Given the description of an element on the screen output the (x, y) to click on. 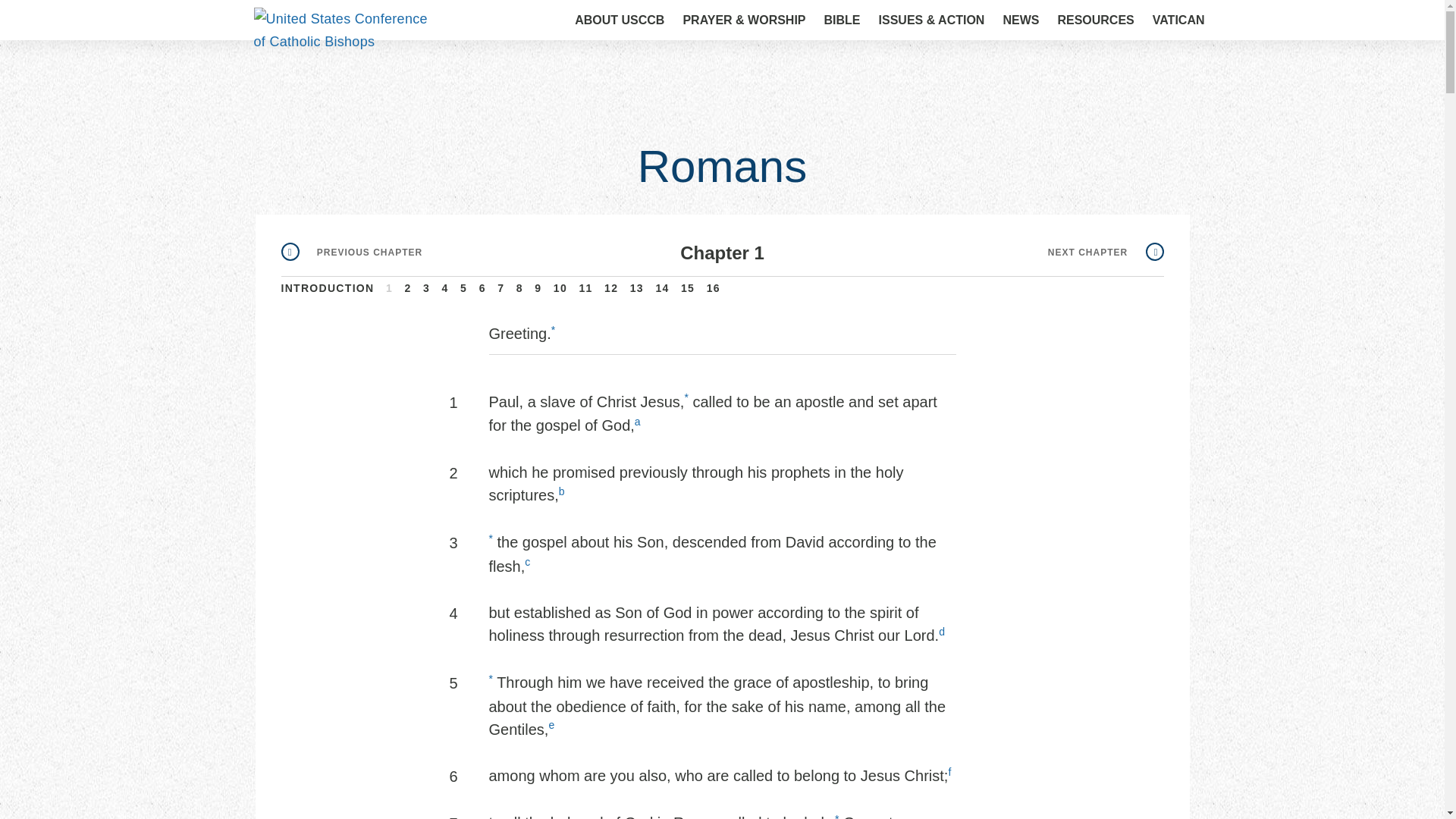
Link list for Vatican website (1178, 20)
Go to previous page (351, 252)
Go (1173, 21)
Go to next page (1105, 252)
